Given the description of an element on the screen output the (x, y) to click on. 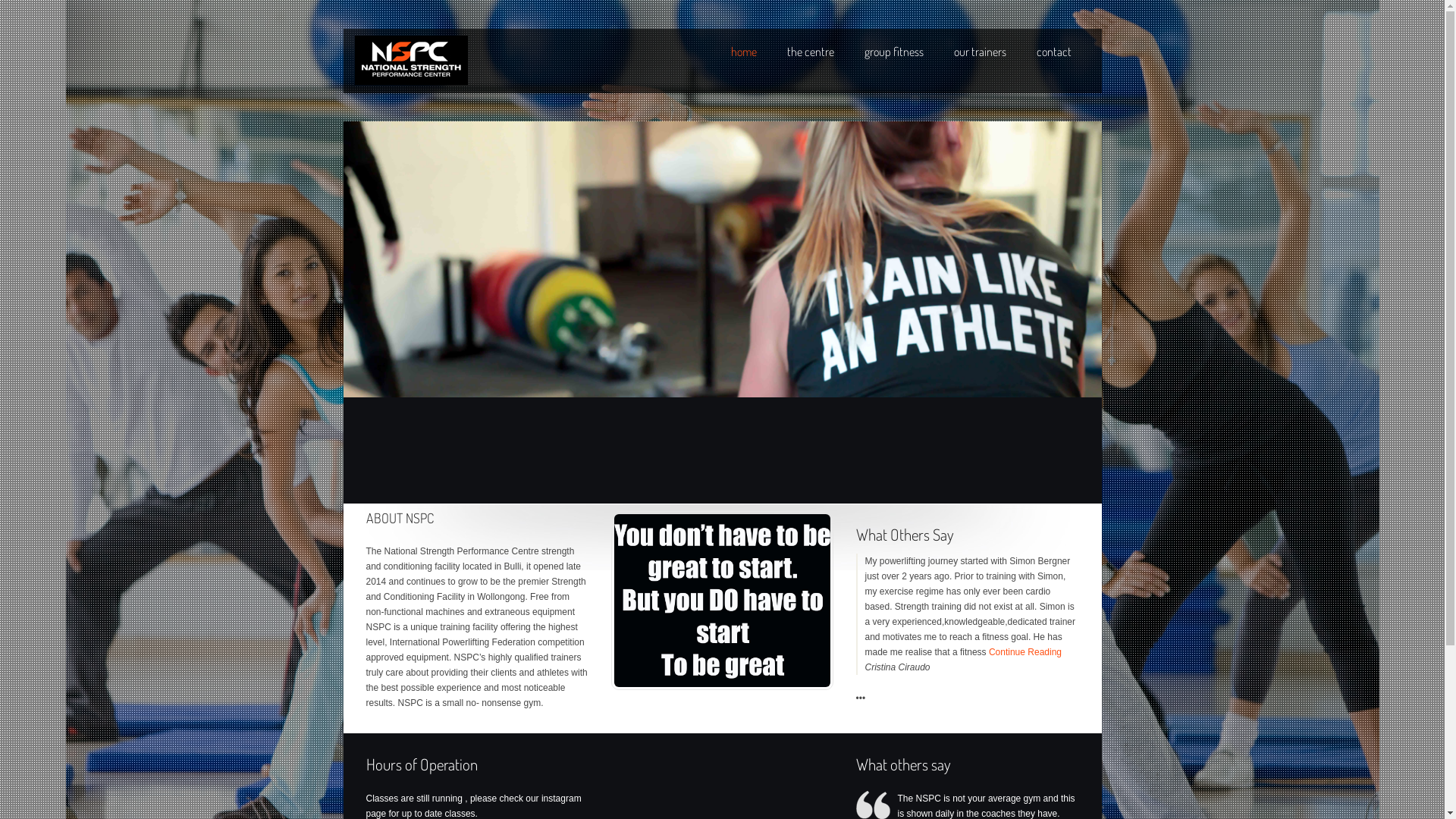
contact Element type: text (1052, 51)
group fitness Element type: text (893, 51)
slide3 Element type: hover (721, 259)
Continue Reading Element type: text (1024, 651)
our trainers Element type: text (979, 51)
home Element type: text (743, 51)
the centre Element type: text (810, 51)
NSP Centre Element type: hover (410, 59)
